Given the description of an element on the screen output the (x, y) to click on. 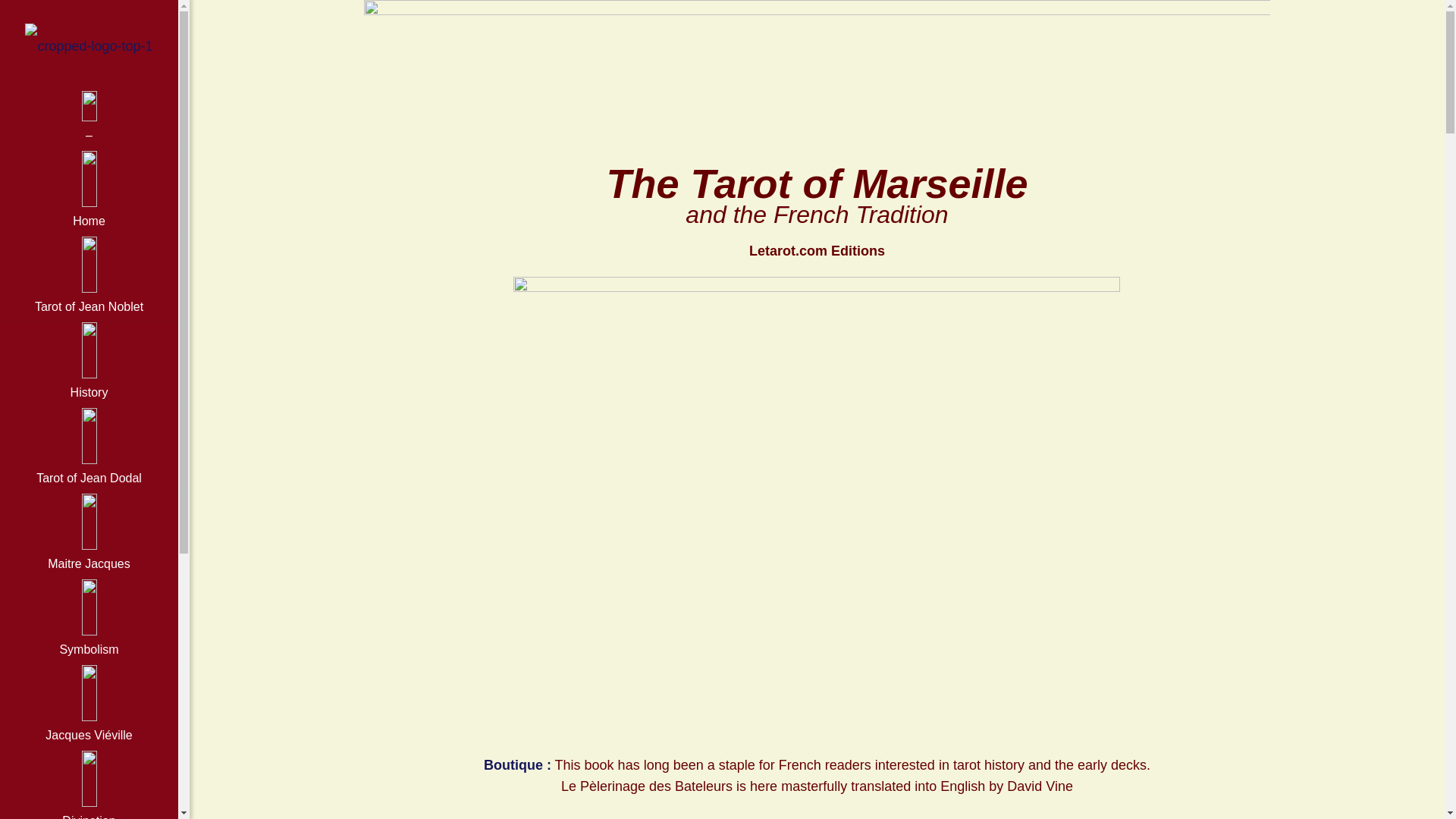
Boutique : (517, 765)
Tarot of Jean Dodal (88, 450)
Tarot of Jean Noblet (88, 279)
History (88, 364)
Maitre Jacques (88, 536)
Home (88, 193)
Divination (88, 785)
Symbolism (88, 622)
Tarot History (88, 45)
